Given the description of an element on the screen output the (x, y) to click on. 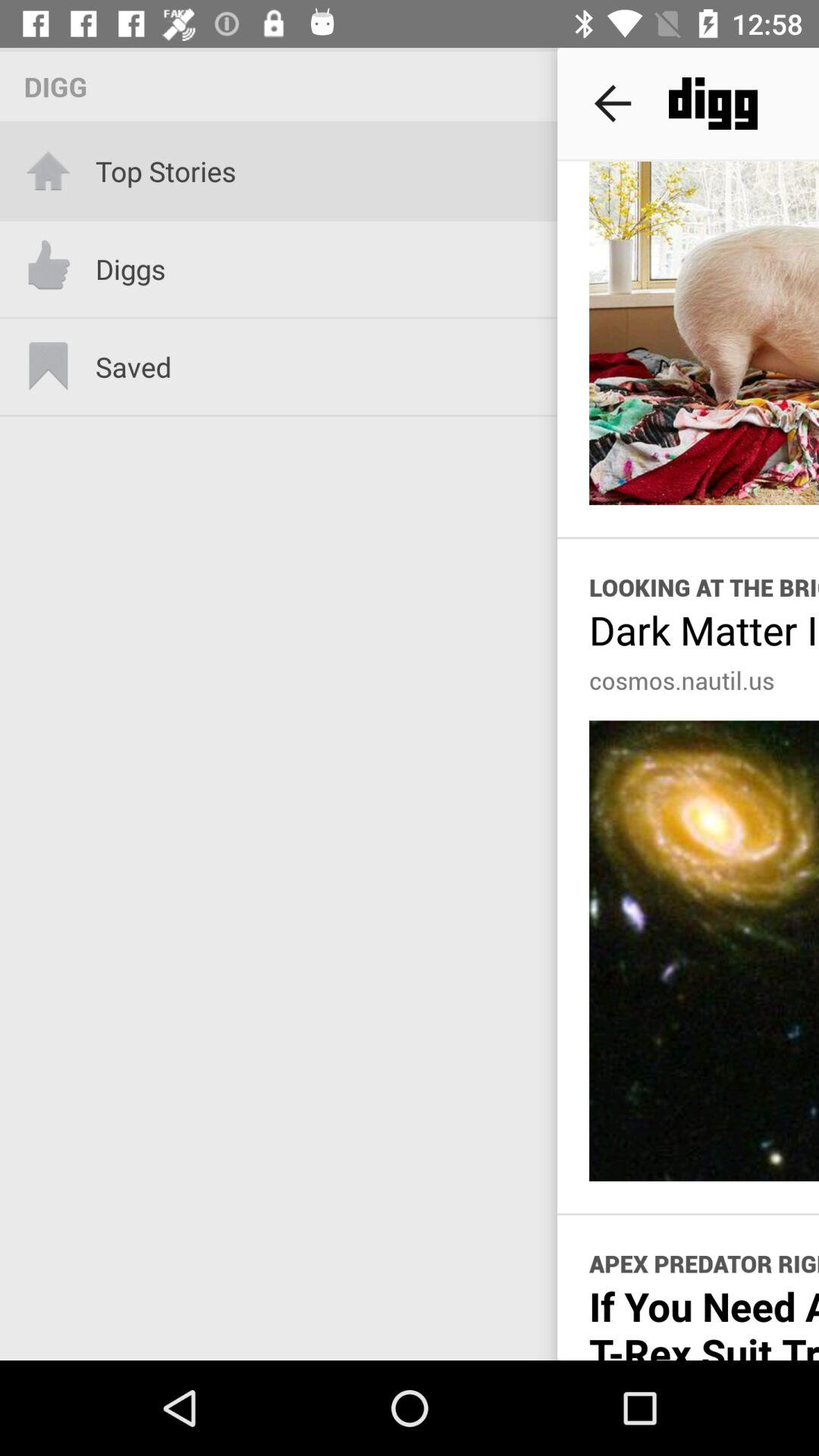
scroll to the if you need item (704, 1319)
